Given the description of an element on the screen output the (x, y) to click on. 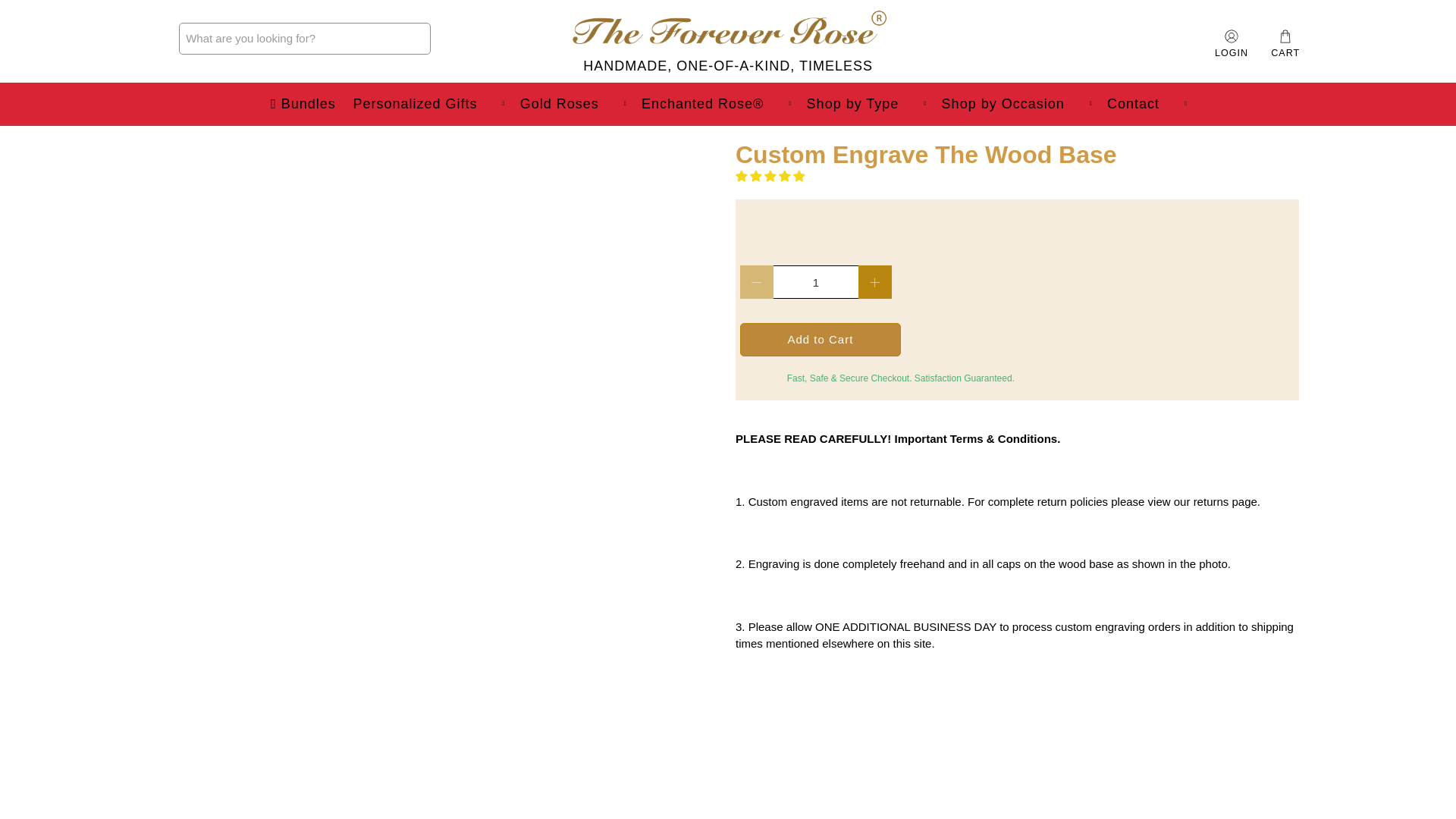
1 (816, 281)
LOGIN (1231, 37)
Gold Roses (571, 104)
CART (1285, 44)
Shop by Type (865, 104)
Shop by Occasion (1015, 104)
Personalized Gifts (427, 104)
The Forever Rose  (727, 38)
HANDMADE, ONE-OF-A-KIND, TIMELESS (727, 38)
